Given the description of an element on the screen output the (x, y) to click on. 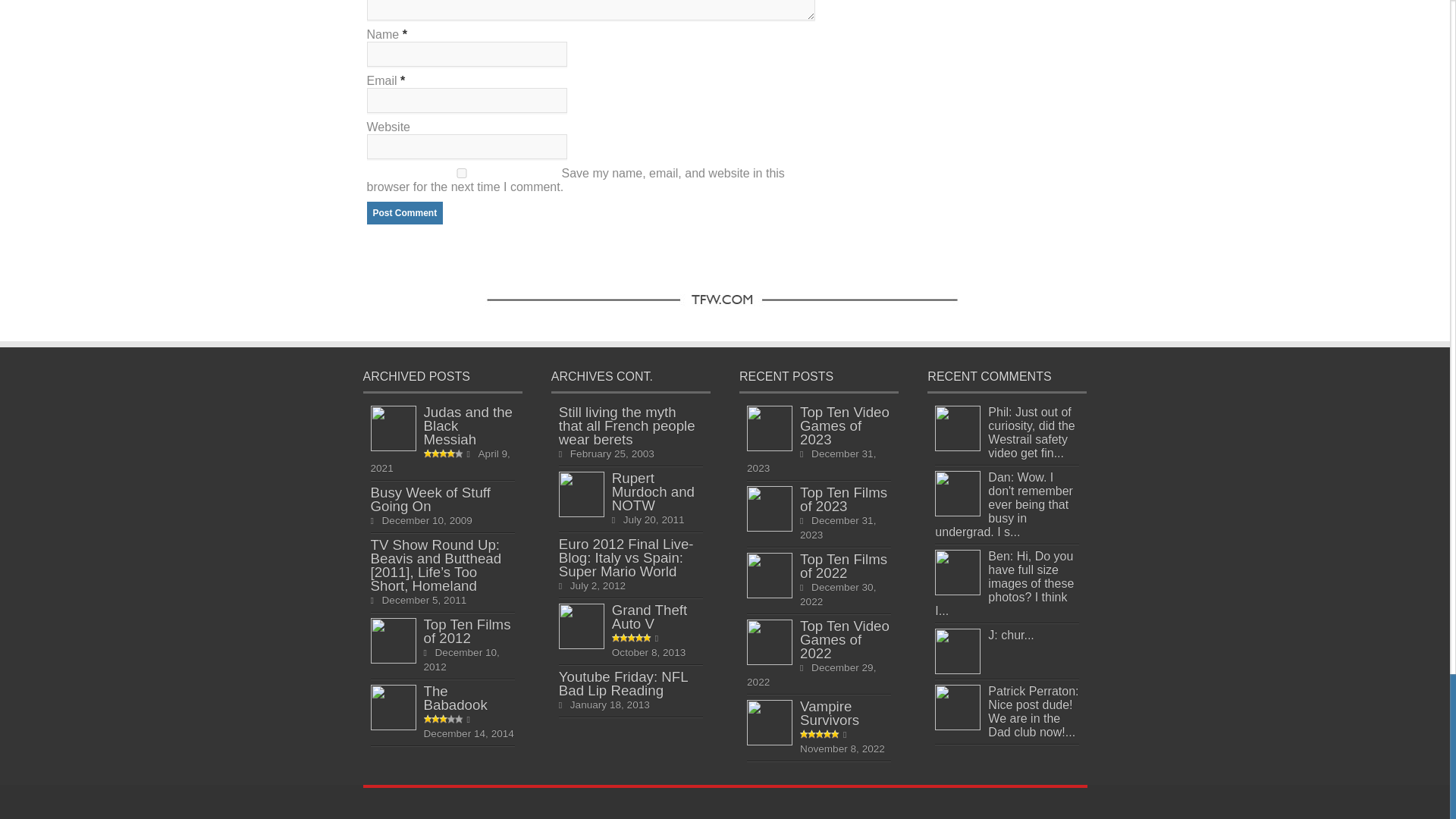
yes (461, 173)
Post Comment (405, 212)
